Given the description of an element on the screen output the (x, y) to click on. 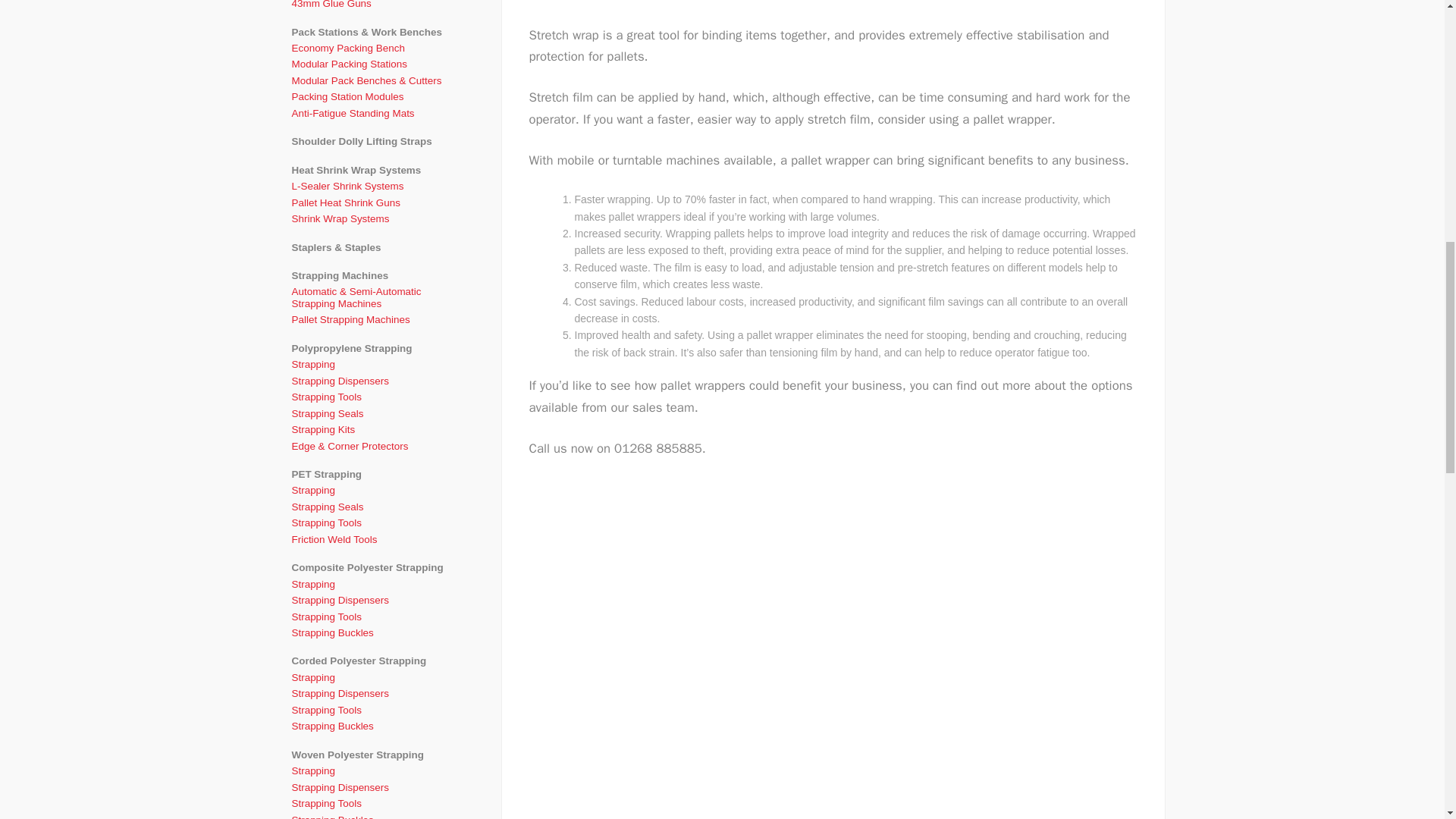
43mm Glue Guns (374, 5)
Modular Packing Stations (374, 64)
Economy Packing Bench (374, 48)
